Given the description of an element on the screen output the (x, y) to click on. 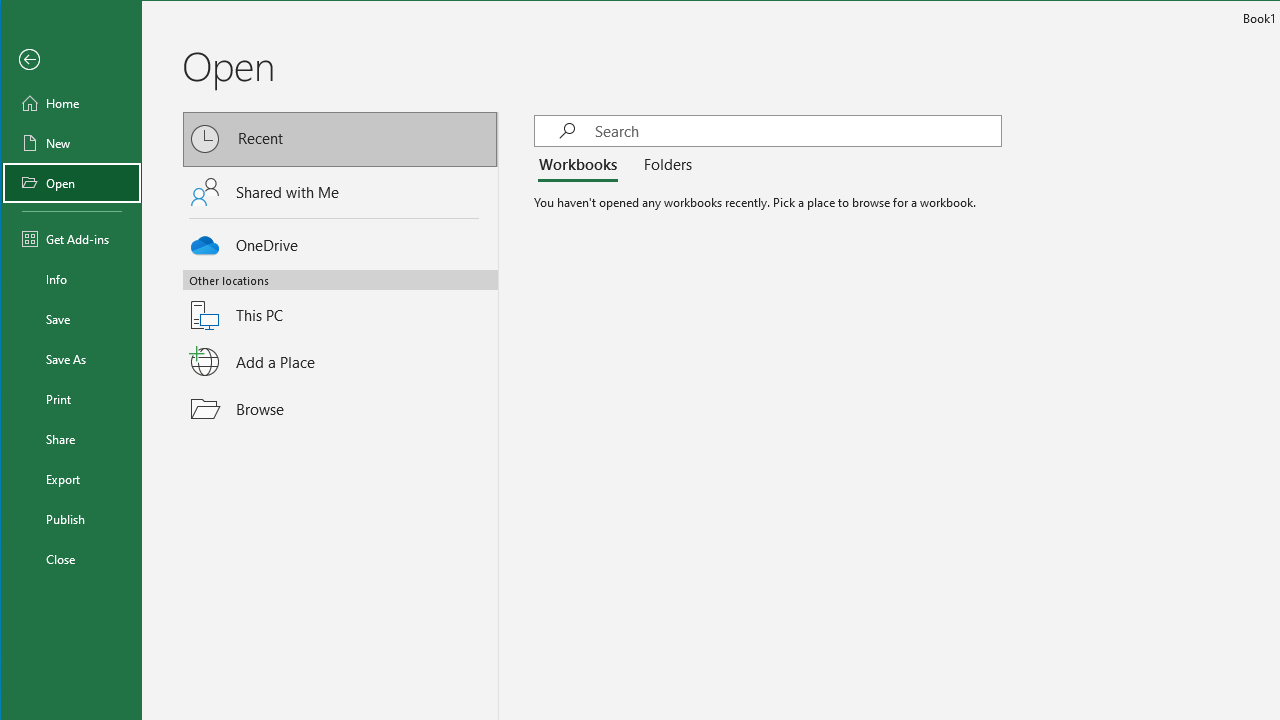
Browse (341, 409)
Shared with Me (341, 191)
Export (72, 478)
Publish (72, 518)
Back (72, 60)
